Given the description of an element on the screen output the (x, y) to click on. 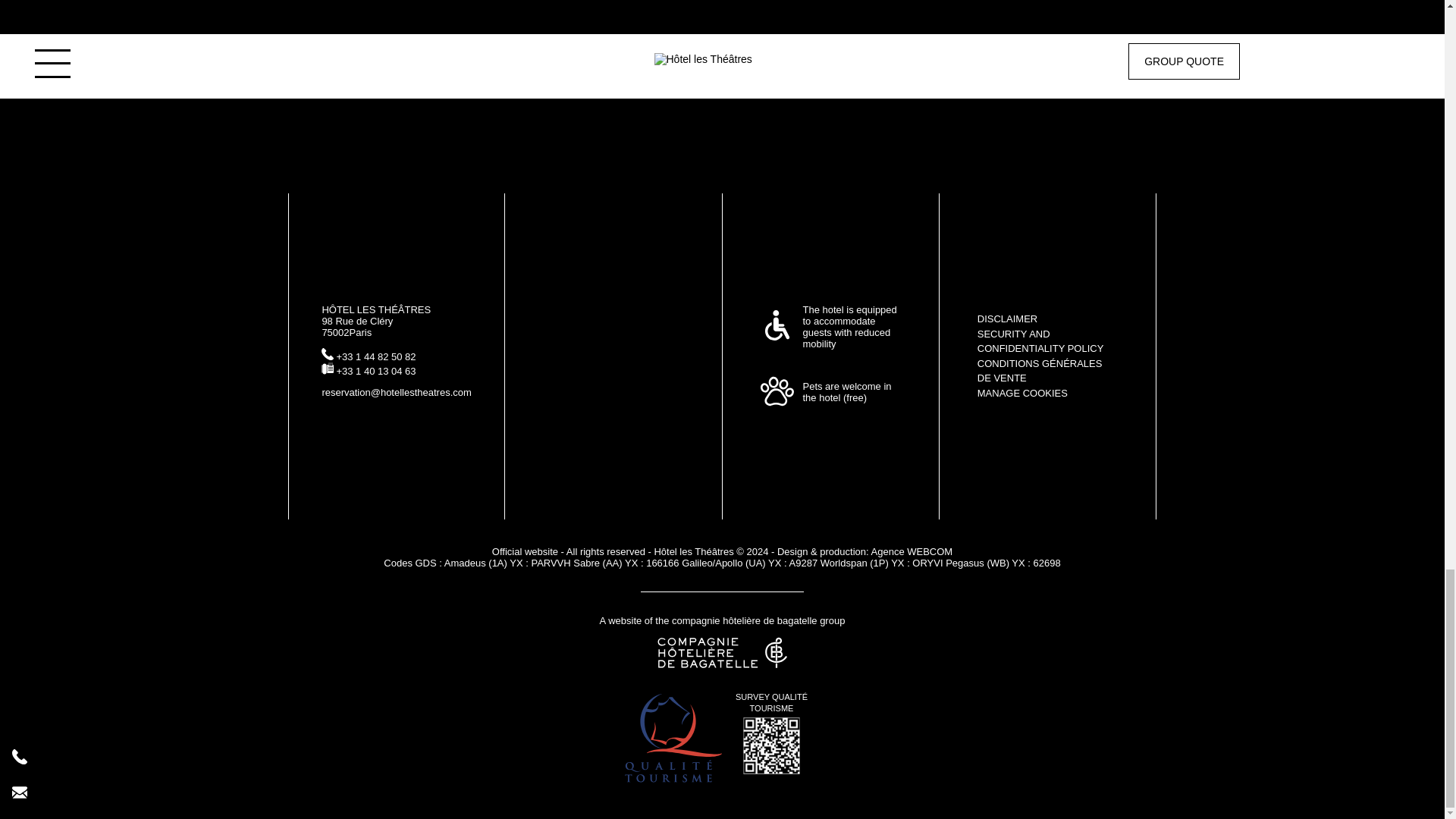
DISCLAIMER (1006, 318)
Agence WEBCOM (911, 551)
MANAGE COOKIES (1021, 392)
SECURITY AND CONFIDENTIALITY POLICY (1039, 340)
